Given the description of an element on the screen output the (x, y) to click on. 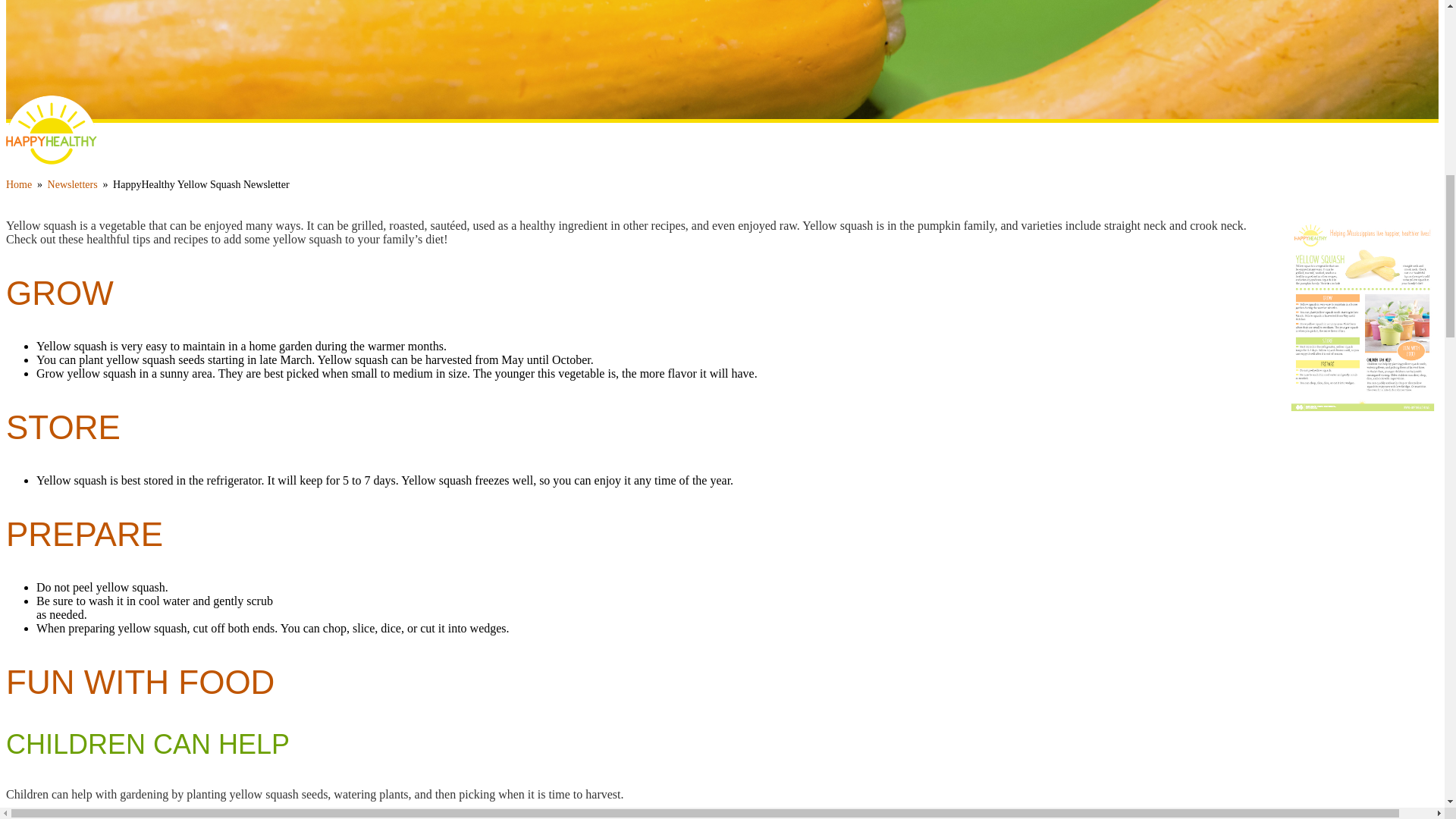
Newsletters (72, 184)
Home (18, 184)
